Given the description of an element on the screen output the (x, y) to click on. 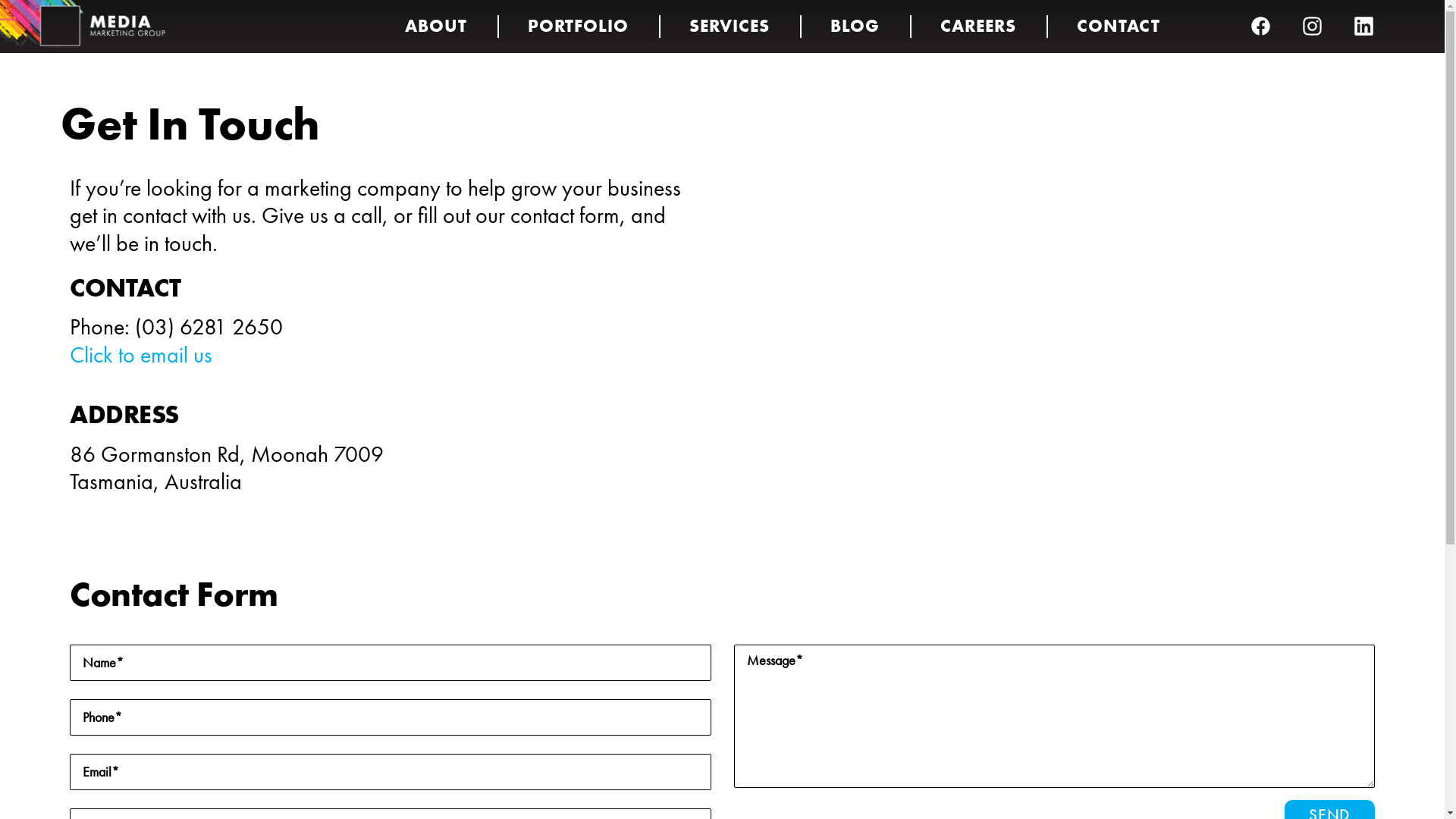
PORTFOLIO Element type: text (577, 26)
CAREERS Element type: text (978, 26)
CONTACT Element type: text (1118, 26)
SERVICES Element type: text (729, 26)
BLOG Element type: text (855, 26)
ABOUT Element type: text (435, 26)
Click to email us Element type: text (140, 354)
